Given the description of an element on the screen output the (x, y) to click on. 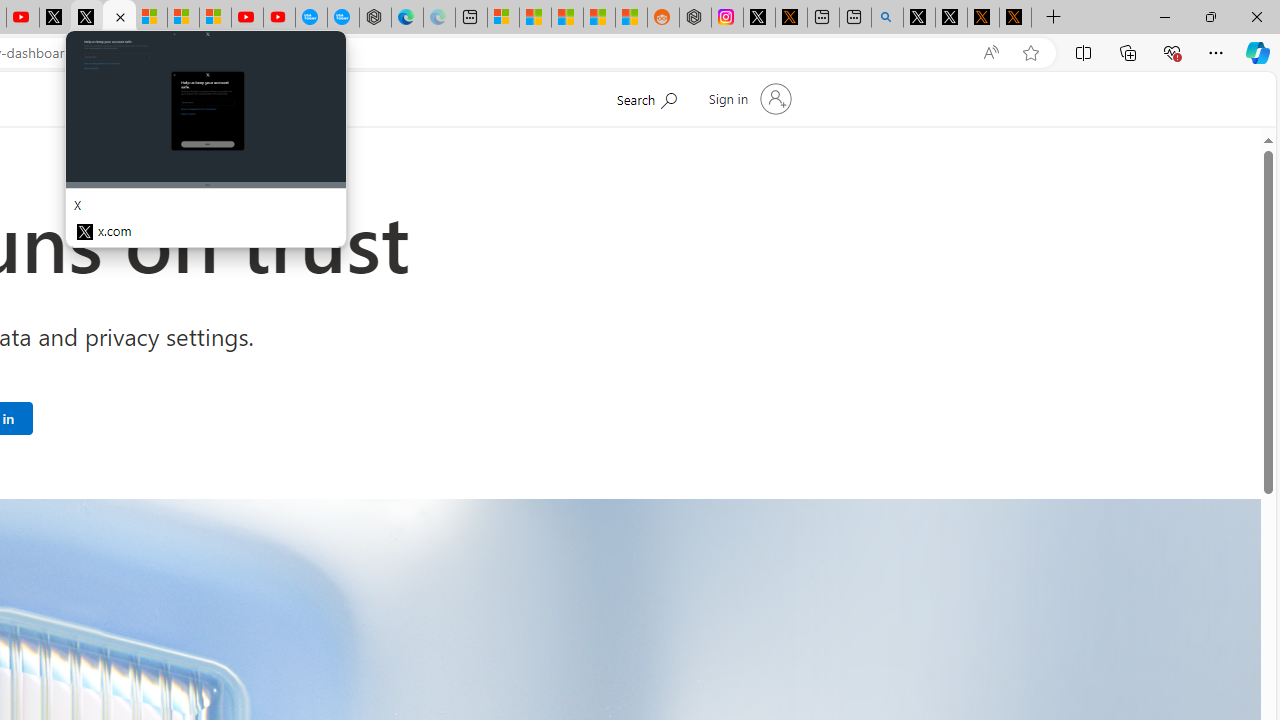
Profile / X (919, 17)
GitHub (@github) / X (950, 17)
